Given the description of an element on the screen output the (x, y) to click on. 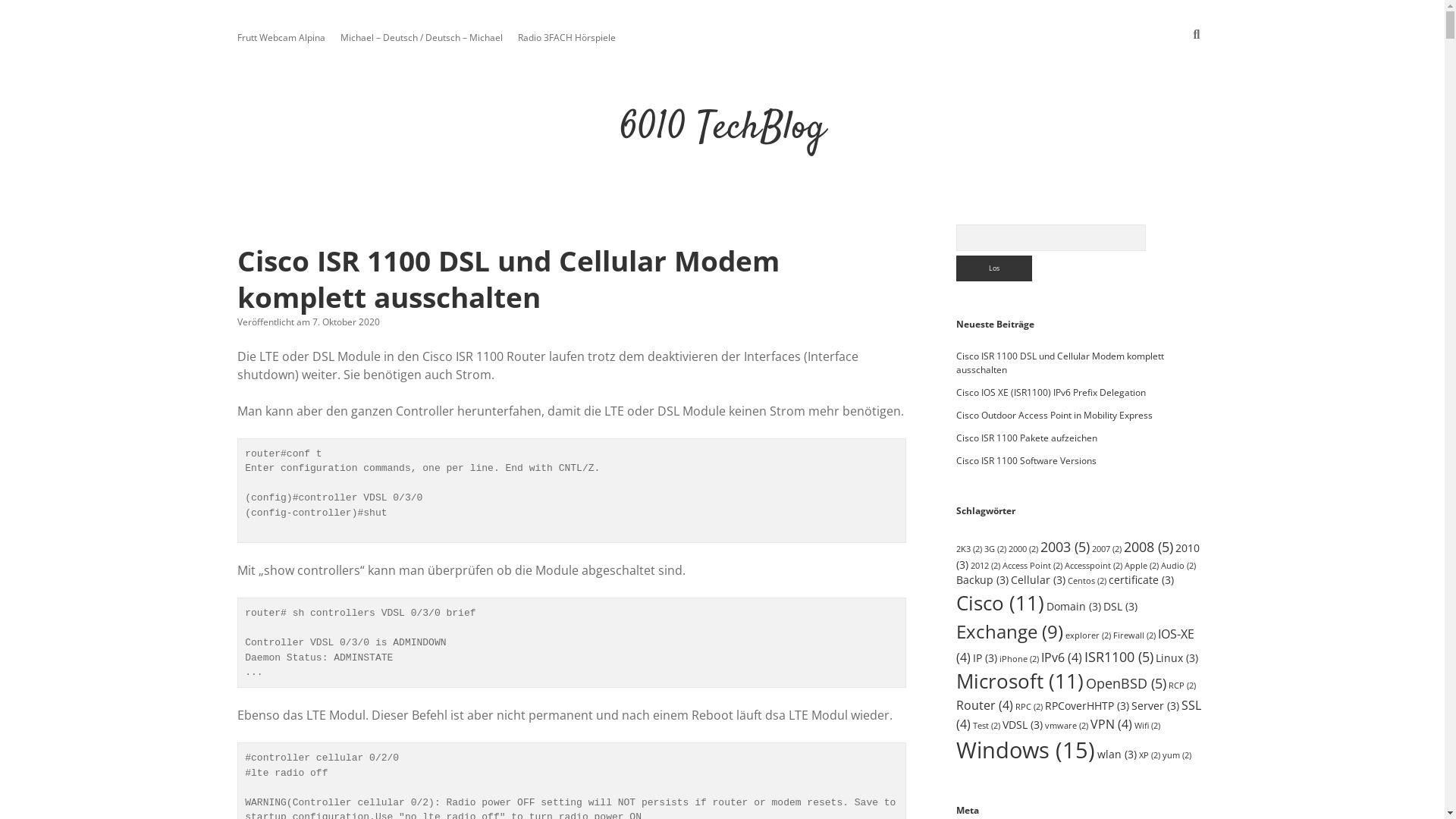
2K3 (2) Element type: text (969, 548)
Frutt Webcam Alpina Element type: text (280, 37)
Cisco IOS XE (ISR1100) IPv6 Prefix Delegation Element type: text (1050, 391)
IOS-XE (4) Element type: text (1075, 645)
Backup (3) Element type: text (982, 579)
VDSL (3) Element type: text (1022, 724)
Wifi (2) Element type: text (1147, 725)
iPhone (2) Element type: text (1018, 658)
RCP (2) Element type: text (1181, 685)
XP (2) Element type: text (1149, 754)
certificate (3) Element type: text (1140, 579)
Microsoft (11) Element type: text (1019, 680)
Access Point (2) Element type: text (1032, 565)
Router (4) Element type: text (984, 704)
2008 (5) Element type: text (1148, 545)
Cisco ISR 1100 Pakete aufzeichen Element type: text (1026, 437)
Accesspoint (2) Element type: text (1093, 565)
2000 (2) Element type: text (1023, 548)
Audio (2) Element type: text (1178, 565)
Cisco ISR 1100 DSL und Cellular Modem komplett ausschalten Element type: text (1060, 362)
IP (3) Element type: text (984, 657)
Apple (2) Element type: text (1141, 565)
2012 (2) Element type: text (985, 565)
3G (2) Element type: text (995, 548)
SSL (4) Element type: text (1078, 714)
explorer (2) Element type: text (1087, 635)
Server (3) Element type: text (1155, 705)
6010 TechBlog Element type: text (722, 128)
Test (2) Element type: text (986, 725)
Exchange (9) Element type: text (1009, 630)
Cisco (11) Element type: text (1000, 602)
OpenBSD (5) Element type: text (1125, 682)
Suche nach: Element type: hover (1050, 237)
Domain (3) Element type: text (1073, 606)
Cellular (3) Element type: text (1037, 579)
DSL (3) Element type: text (1120, 606)
Linux (3) Element type: text (1176, 657)
Los Element type: text (994, 268)
Cisco ISR 1100 DSL und Cellular Modem komplett ausschalten Element type: text (507, 278)
Centos (2) Element type: text (1086, 580)
vmware (2) Element type: text (1066, 725)
RPC (2) Element type: text (1028, 706)
ISR1100 (5) Element type: text (1118, 655)
2003 (5) Element type: text (1064, 545)
Cisco Outdoor Access Point in Mobility Express Element type: text (1054, 414)
Firewall (2) Element type: text (1134, 635)
Cisco ISR 1100 Software Versions Element type: text (1026, 460)
RPCoverHHTP (3) Element type: text (1086, 705)
yum (2) Element type: text (1176, 754)
VPN (4) Element type: text (1111, 723)
2007 (2) Element type: text (1106, 548)
IPv6 (4) Element type: text (1061, 657)
Windows (15) Element type: text (1025, 749)
wlan (3) Element type: text (1116, 753)
2010 (3) Element type: text (1077, 555)
